Given the description of an element on the screen output the (x, y) to click on. 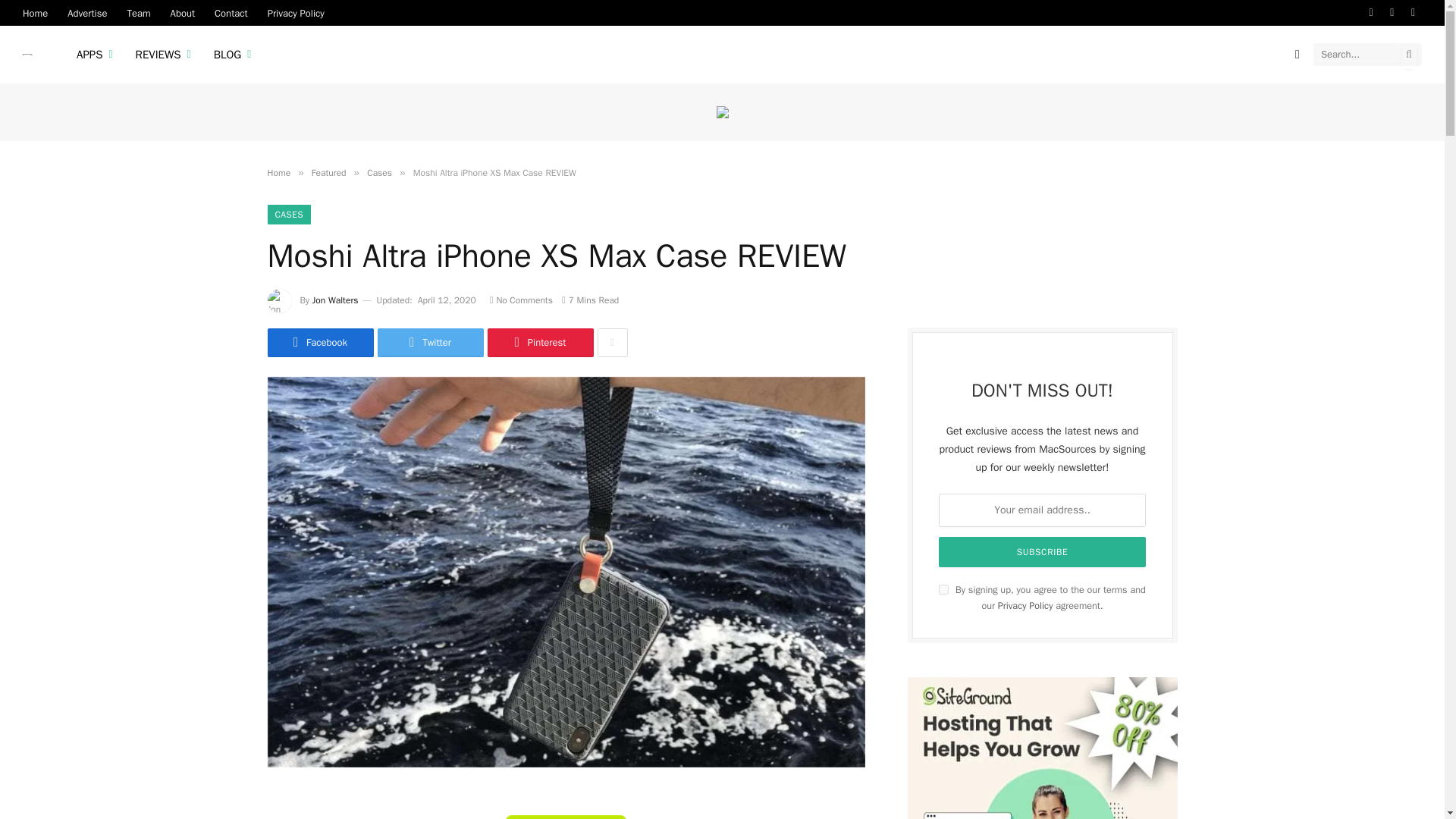
REVIEWS (162, 54)
on (944, 589)
Subscribe (1043, 552)
Contact (231, 12)
Advertise (87, 12)
MacSources (31, 54)
Team (138, 12)
Privacy Policy (295, 12)
APPS (94, 54)
Home (35, 12)
